Given the description of an element on the screen output the (x, y) to click on. 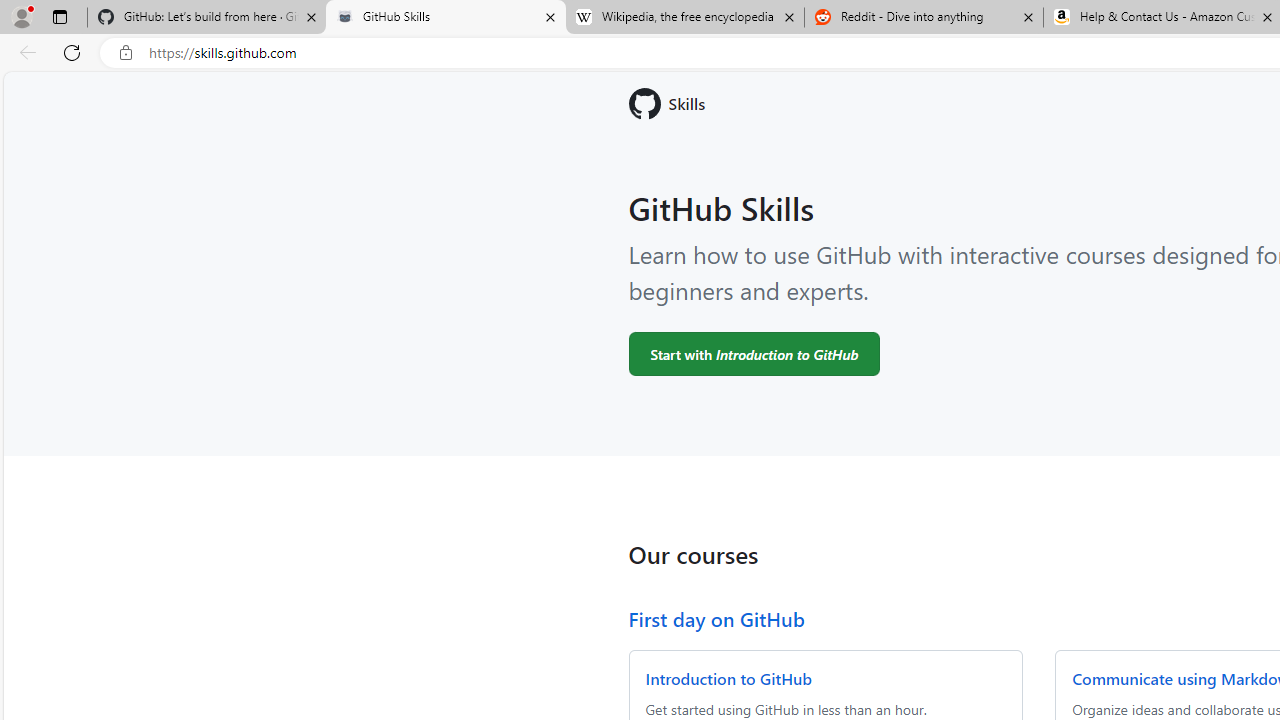
Introduction to GitHub (728, 678)
First day on GitHub (716, 618)
Wikipedia, the free encyclopedia (684, 17)
GitHub Skills (445, 17)
Start with Introduction to GitHub (754, 353)
